Given the description of an element on the screen output the (x, y) to click on. 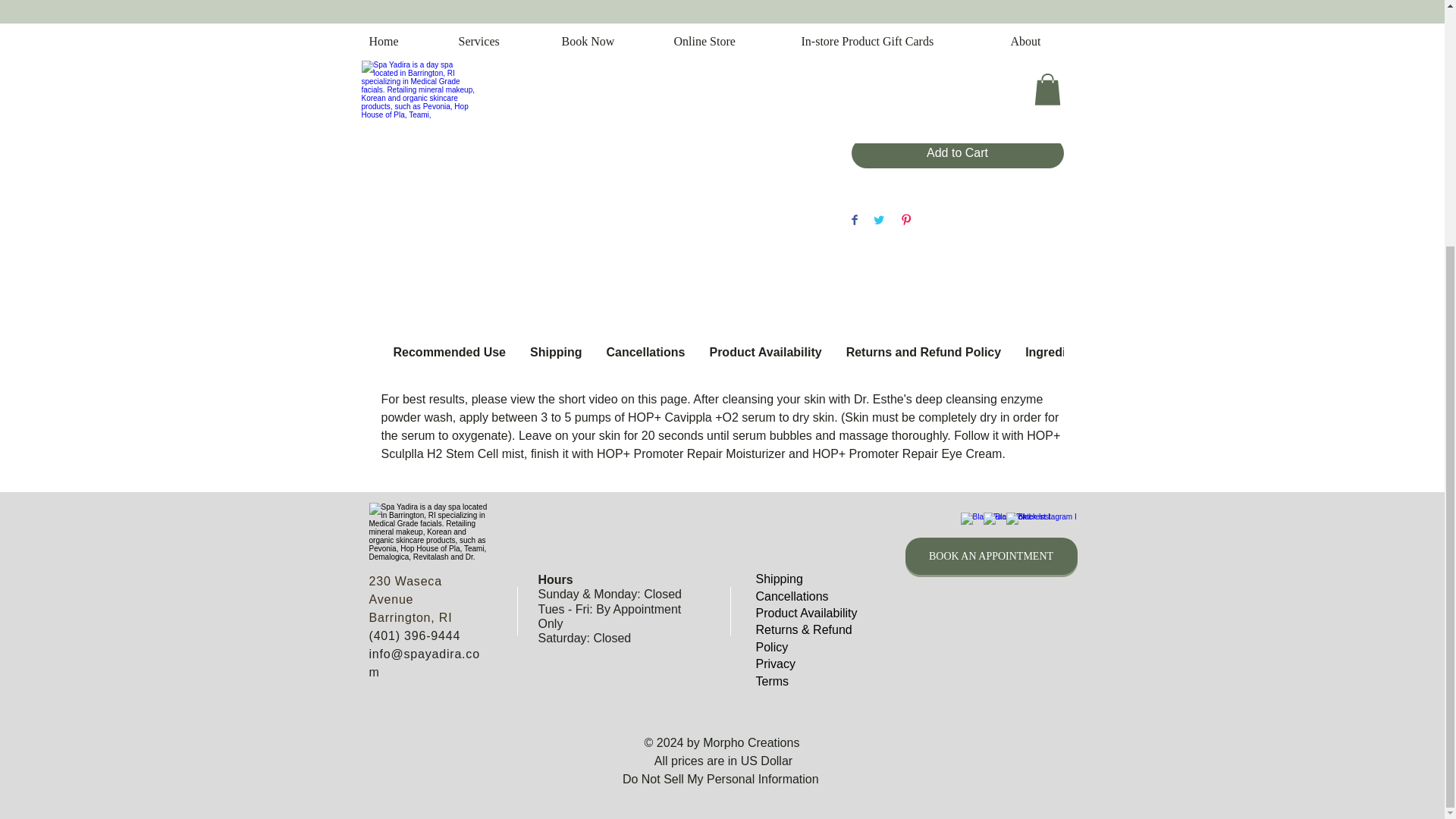
Product Availability (806, 612)
Use right and left arrows to navigate between tabs (448, 352)
Add to Cart (956, 153)
Cancellations (791, 595)
Shipping (778, 578)
Use right and left arrows to navigate between tabs (645, 352)
Use right and left arrows to navigate between tabs (764, 352)
Use right and left arrows to navigate between tabs (923, 352)
Use right and left arrows to navigate between tabs (1057, 352)
1 (879, 98)
